Given the description of an element on the screen output the (x, y) to click on. 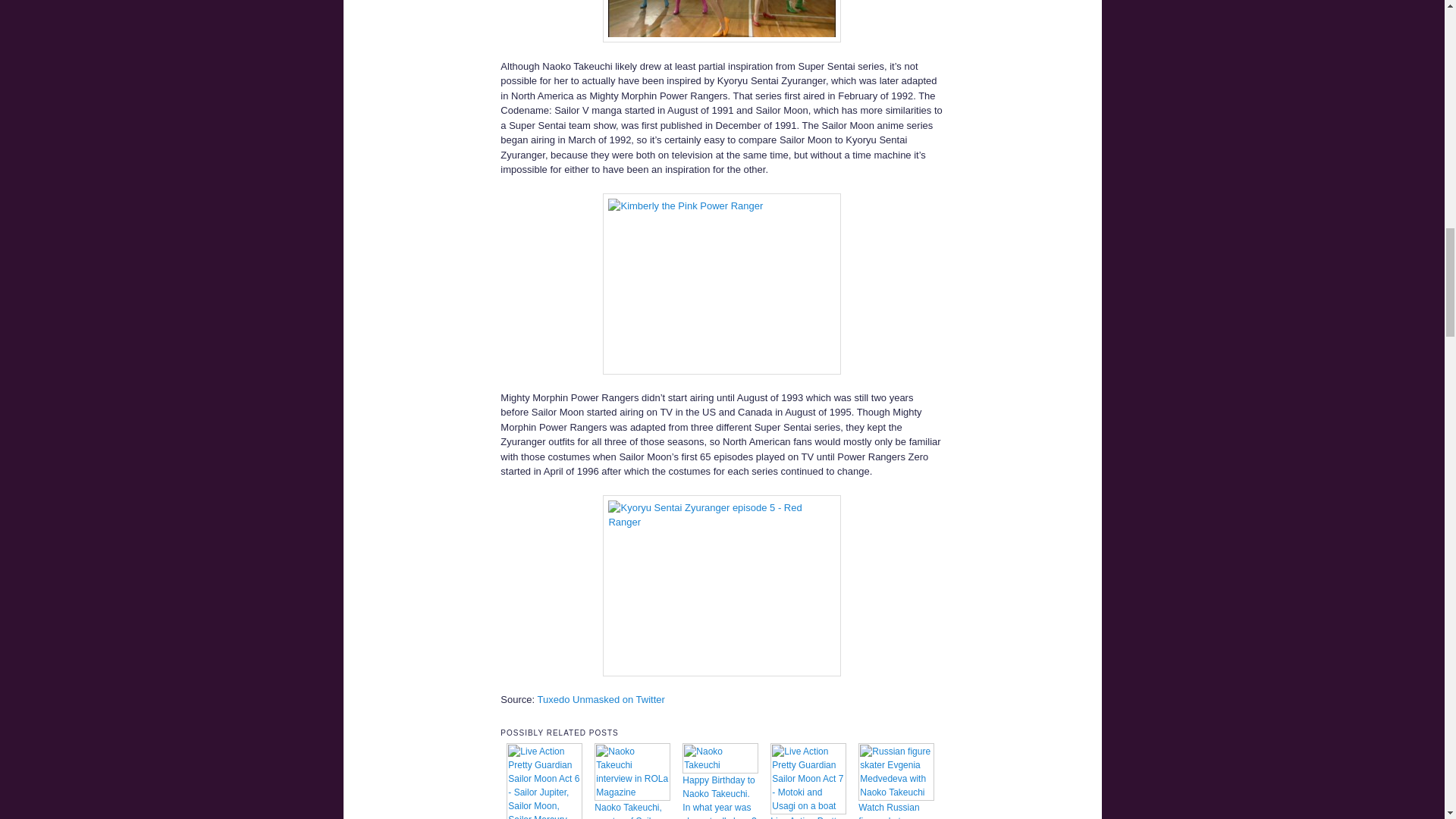
Tuxedo Unmasked on Twitter (601, 699)
